Given the description of an element on the screen output the (x, y) to click on. 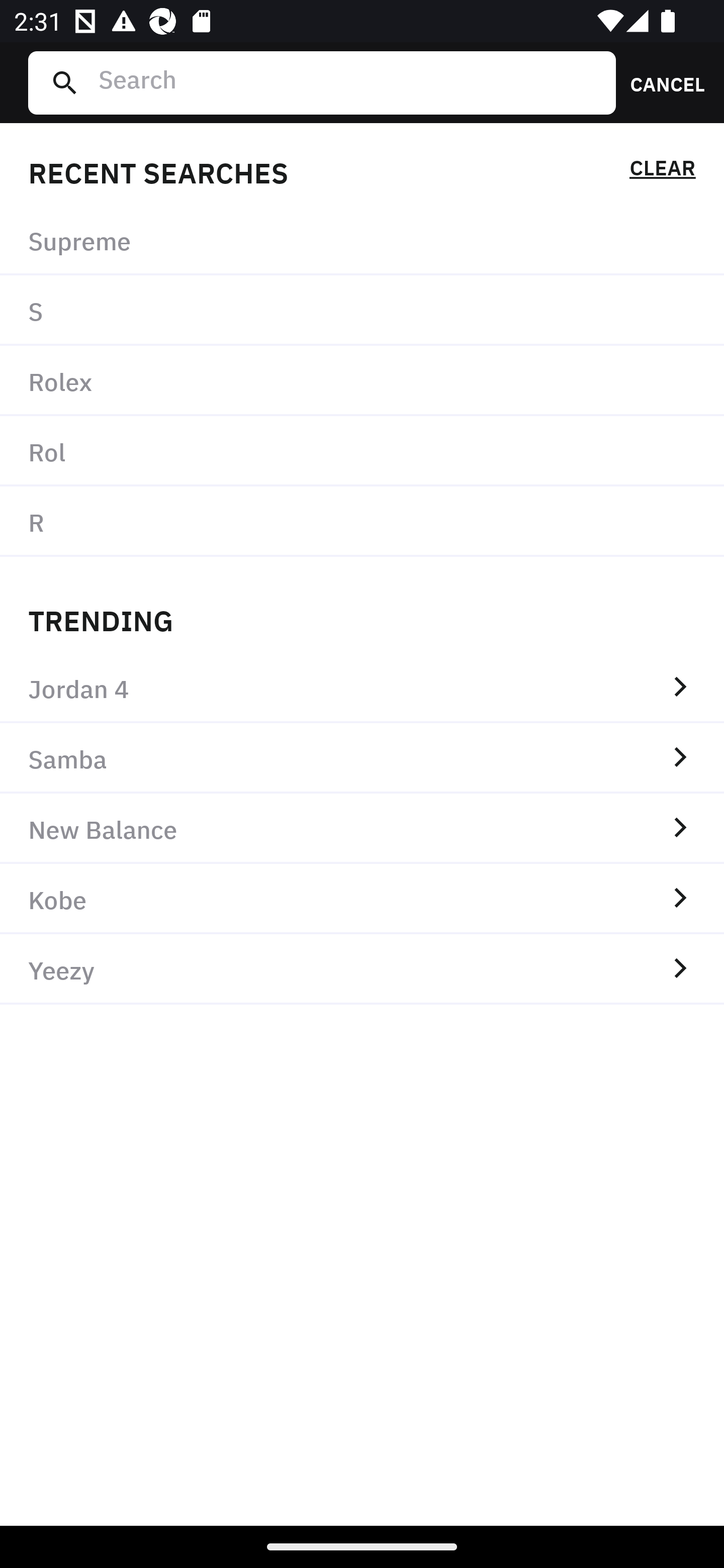
CANCEL (660, 82)
Search (349, 82)
CLEAR (662, 170)
Supreme (362, 240)
S (362, 310)
Rolex (362, 380)
Rol (362, 450)
R (362, 521)
Jordan 4  (362, 687)
Samba  (362, 757)
New Balance  (362, 828)
Kobe  (362, 898)
Yeezy  (362, 969)
